Given the description of an element on the screen output the (x, y) to click on. 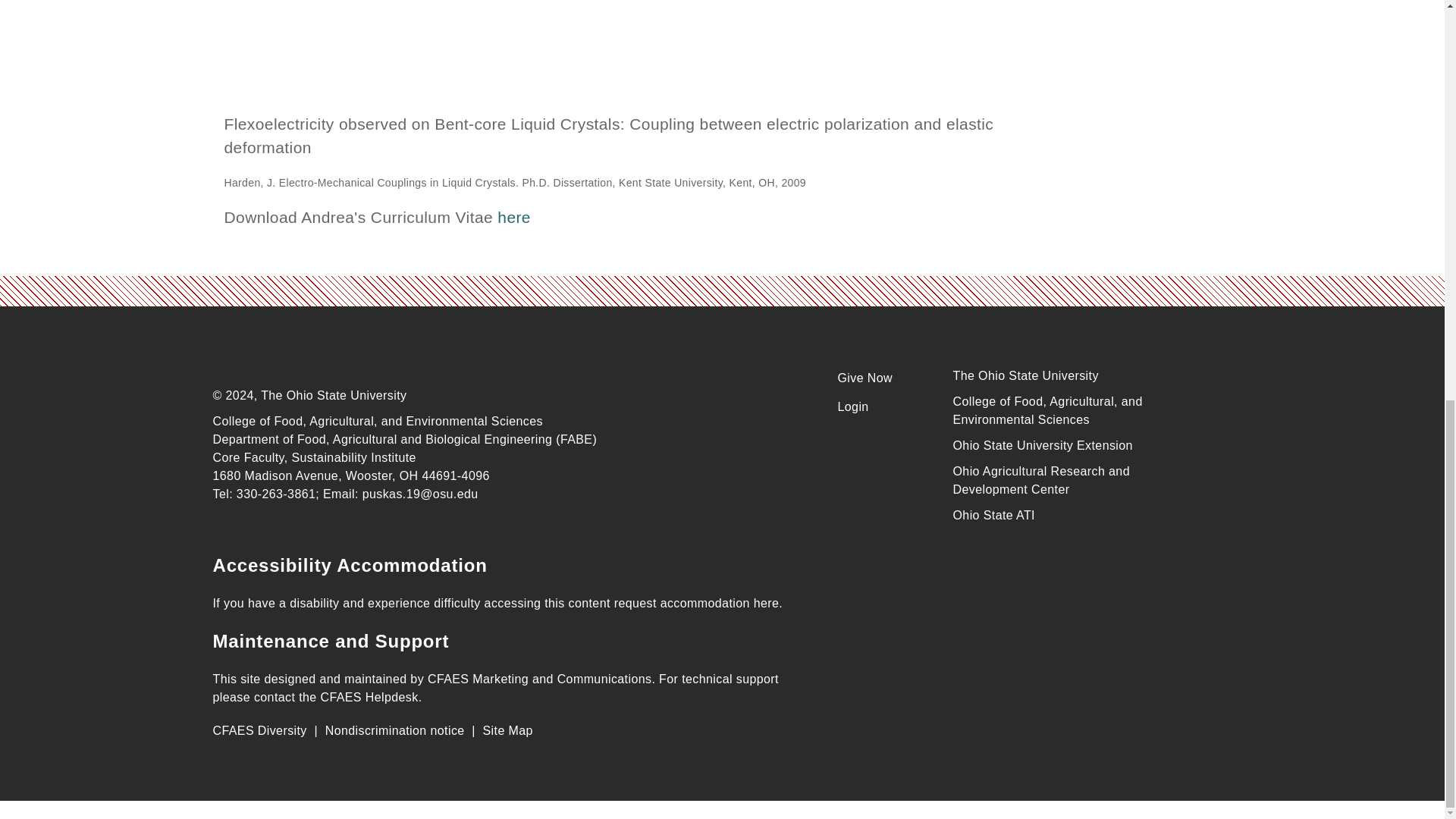
a (607, 56)
CFAES Home (325, 361)
